Given the description of an element on the screen output the (x, y) to click on. 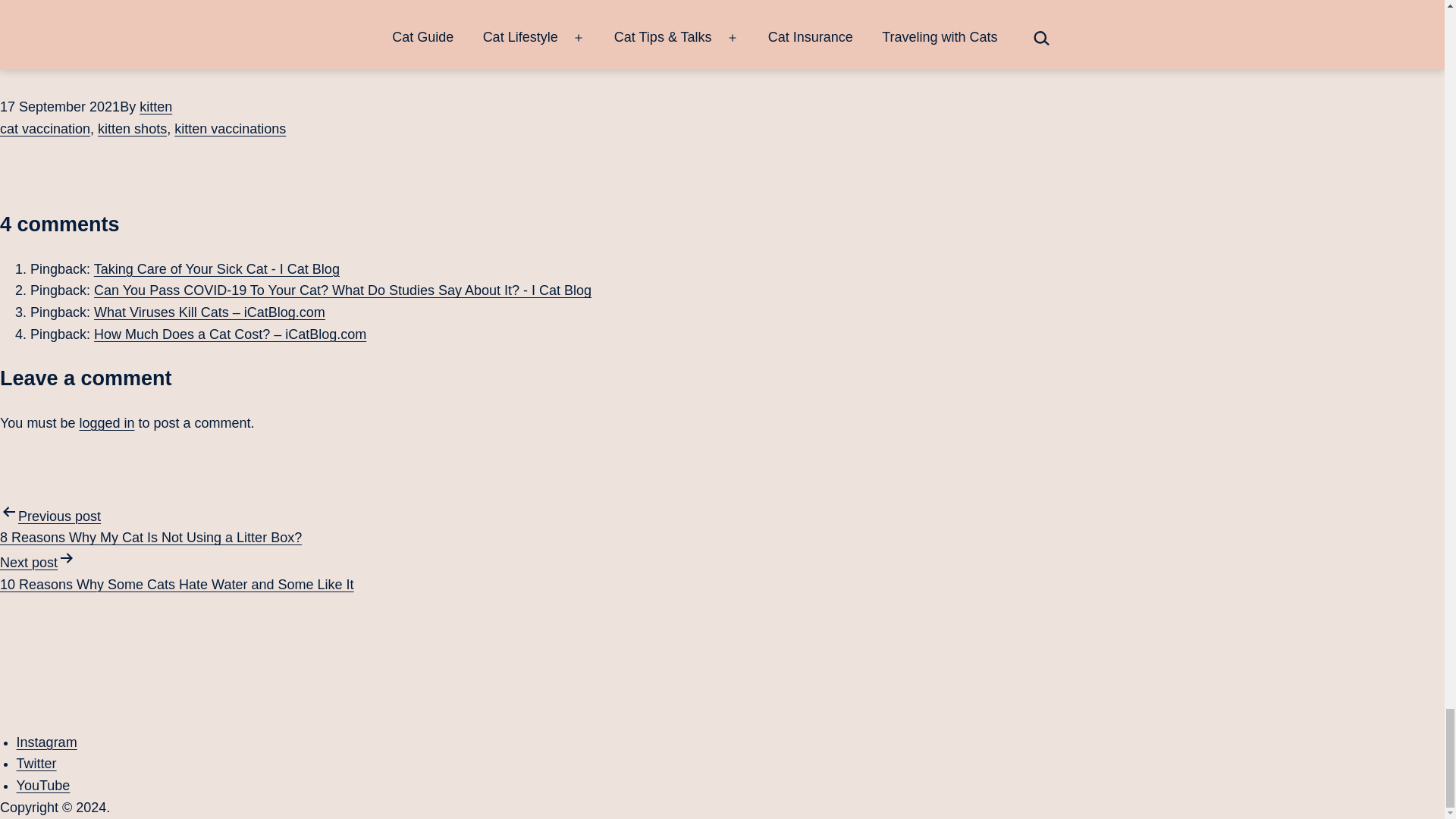
kitten vaccinations (229, 128)
kitten shots (132, 128)
logged in (105, 422)
Taking Care of Your Sick Cat - I Cat Blog (216, 268)
cat vaccination (45, 128)
kitten (155, 106)
